Given the description of an element on the screen output the (x, y) to click on. 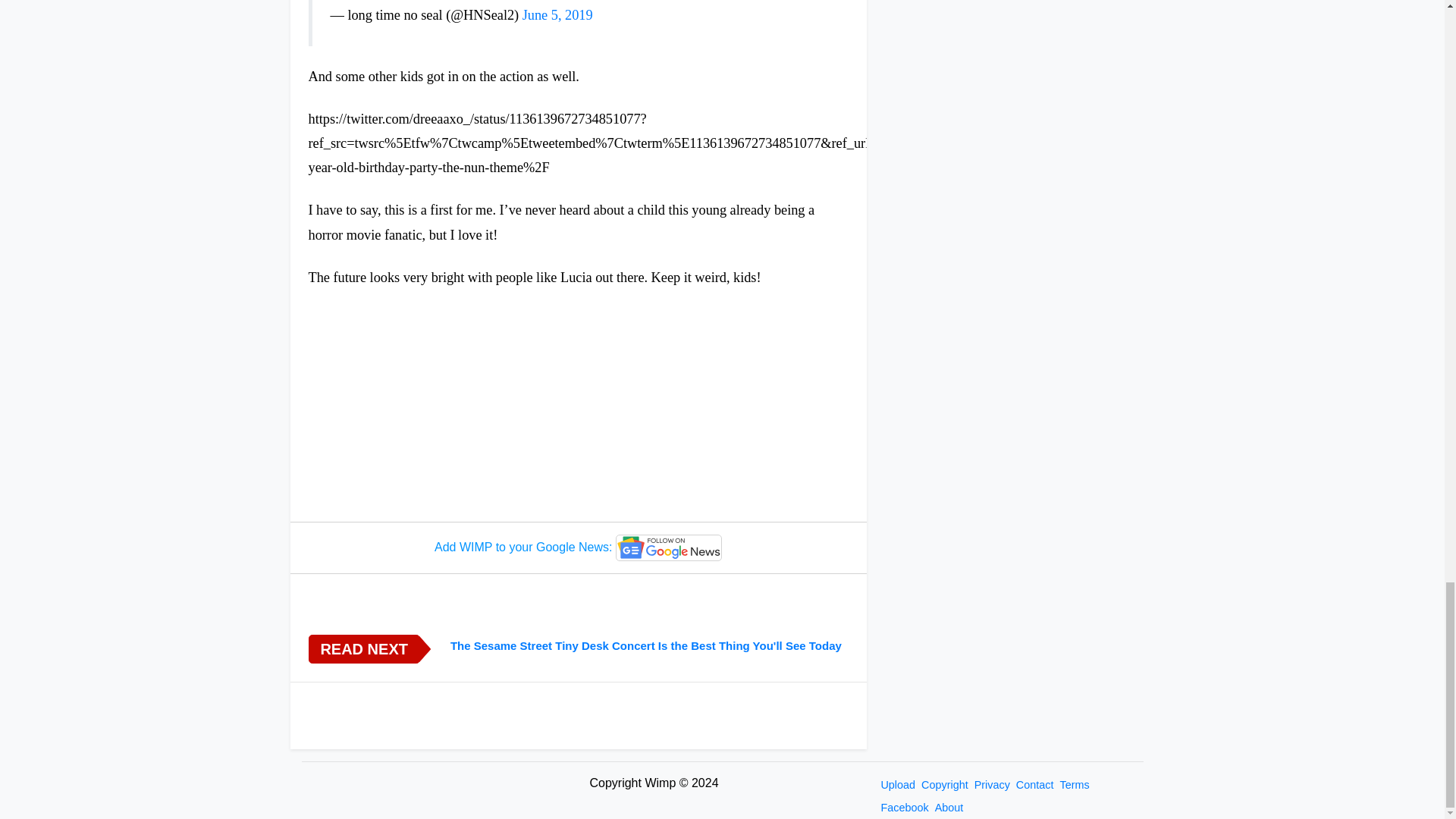
Upload (897, 784)
Copyright (944, 784)
Contact (1035, 784)
Terms (1074, 784)
READ NEXT (363, 648)
Google News (668, 547)
June 5, 2019 (557, 14)
Privacy (992, 784)
